Given the description of an element on the screen output the (x, y) to click on. 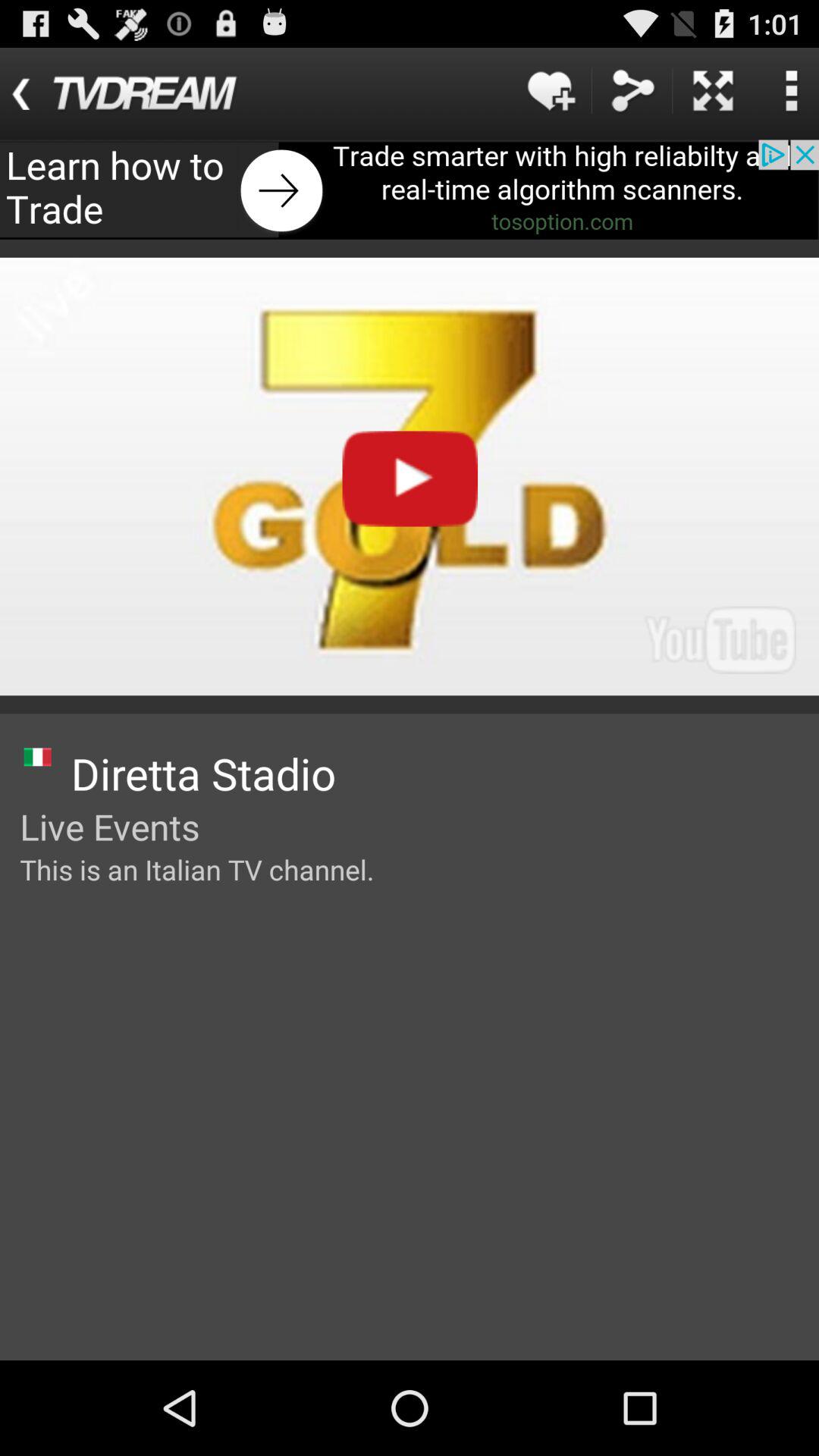
to share the video (632, 90)
